Given the description of an element on the screen output the (x, y) to click on. 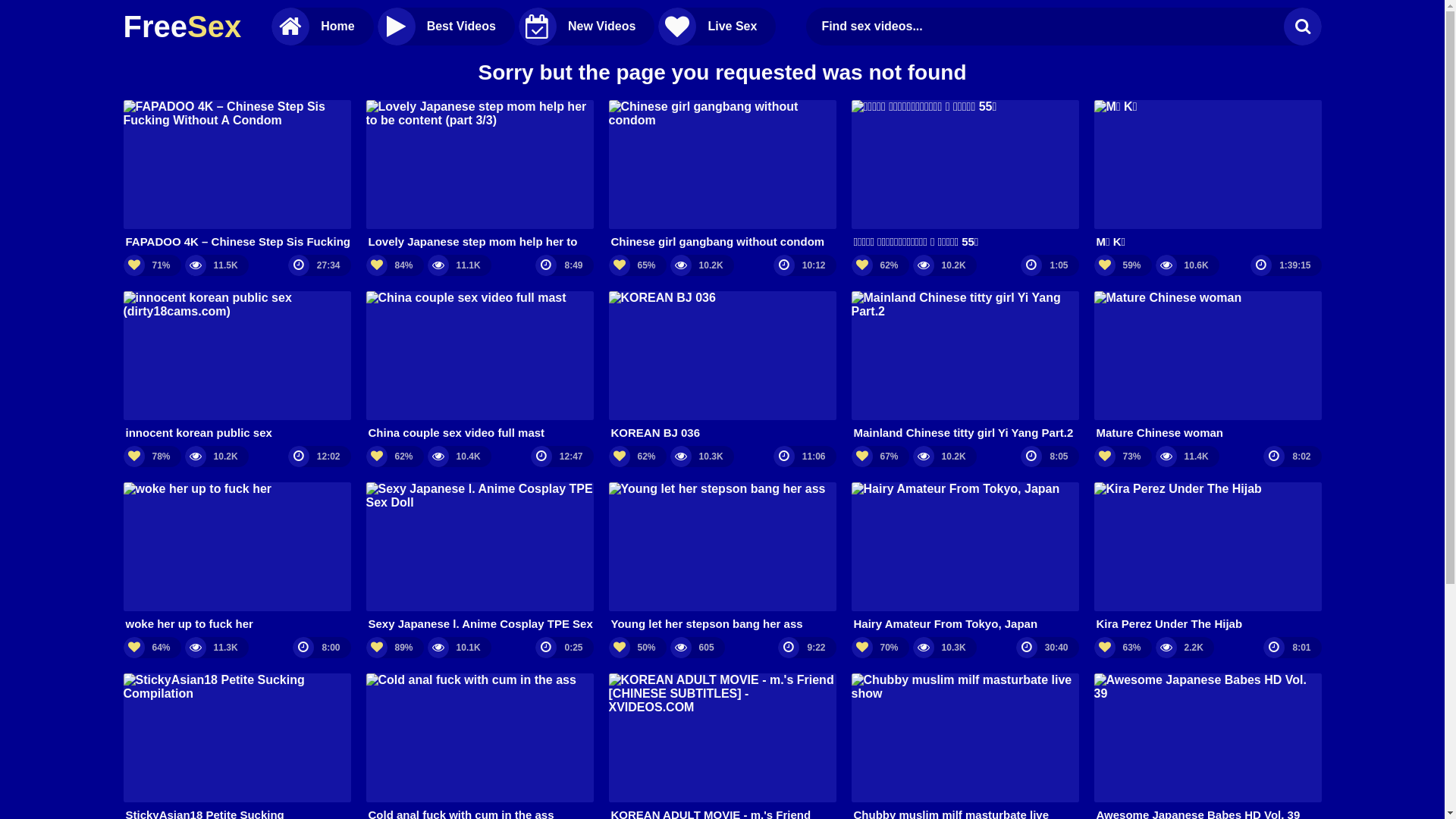
Search Element type: hover (1302, 26)
Home Element type: text (322, 26)
Chinese girl gangbang without condom Element type: text (721, 174)
innocent korean public sex (dirty18cams.com) Element type: text (236, 365)
FreeSex Element type: text (181, 26)
KOREAN BJ 036 Element type: text (721, 365)
Young let her stepson bang her ass Element type: text (721, 556)
Hairy Amateur From Tokyo, Japan Element type: text (964, 556)
woke her up to fuck her Element type: text (236, 556)
Live Sex Element type: text (716, 26)
New Videos Element type: text (586, 26)
Mature Chinese woman Element type: text (1207, 365)
Sexy Japanese l. Anime Cosplay TPE Sex Doll Element type: text (479, 556)
Lovely Japanese step mom help her to be content (part 3/3) Element type: text (479, 174)
Mainland Chinese titty girl Yi Yang Part.2 Element type: text (964, 365)
China couple sex video full mast Element type: text (479, 365)
Kira Perez Under The Hijab Element type: text (1207, 556)
Best Videos Element type: text (445, 26)
